Given the description of an element on the screen output the (x, y) to click on. 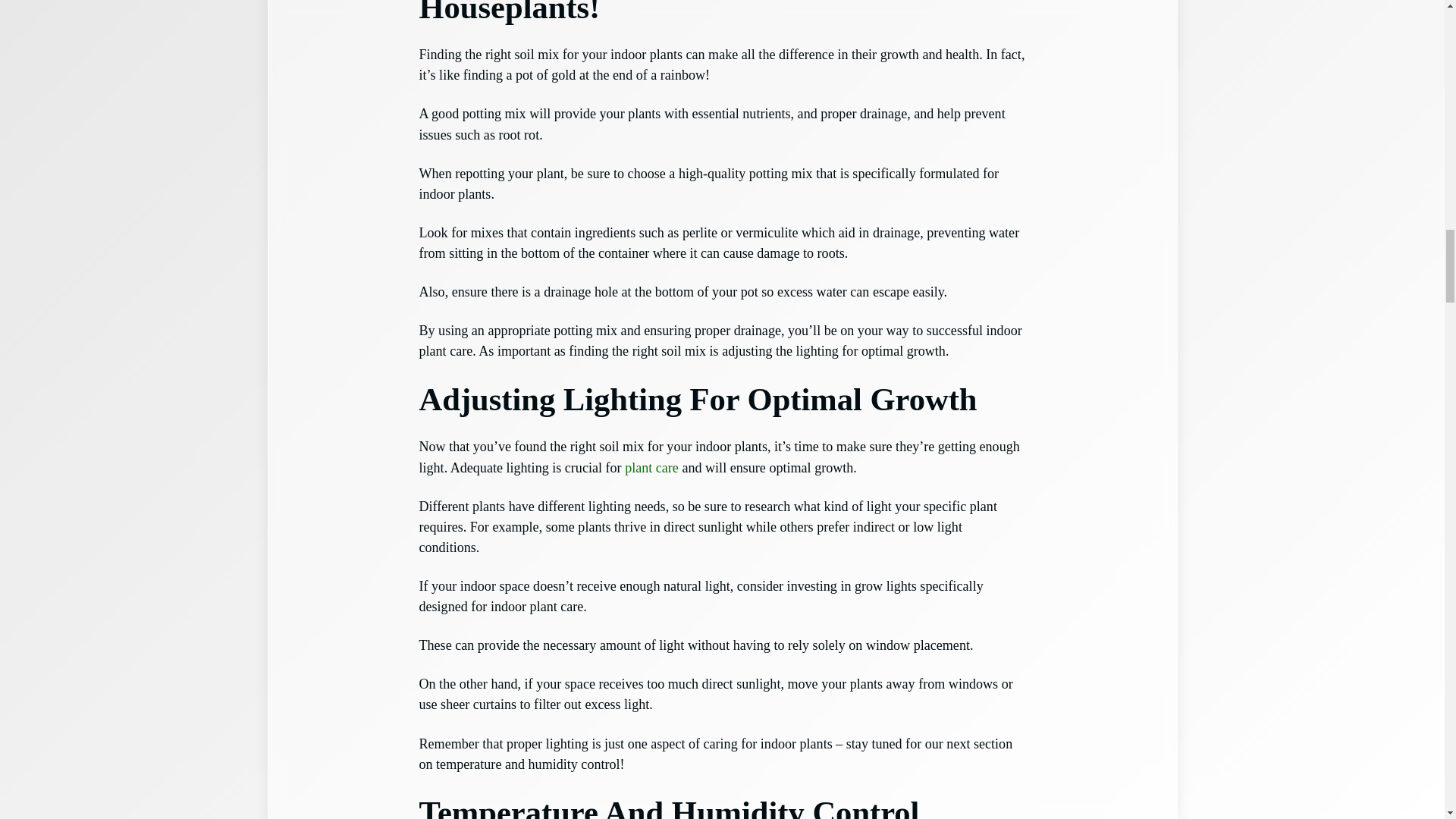
plant care (651, 467)
